Given the description of an element on the screen output the (x, y) to click on. 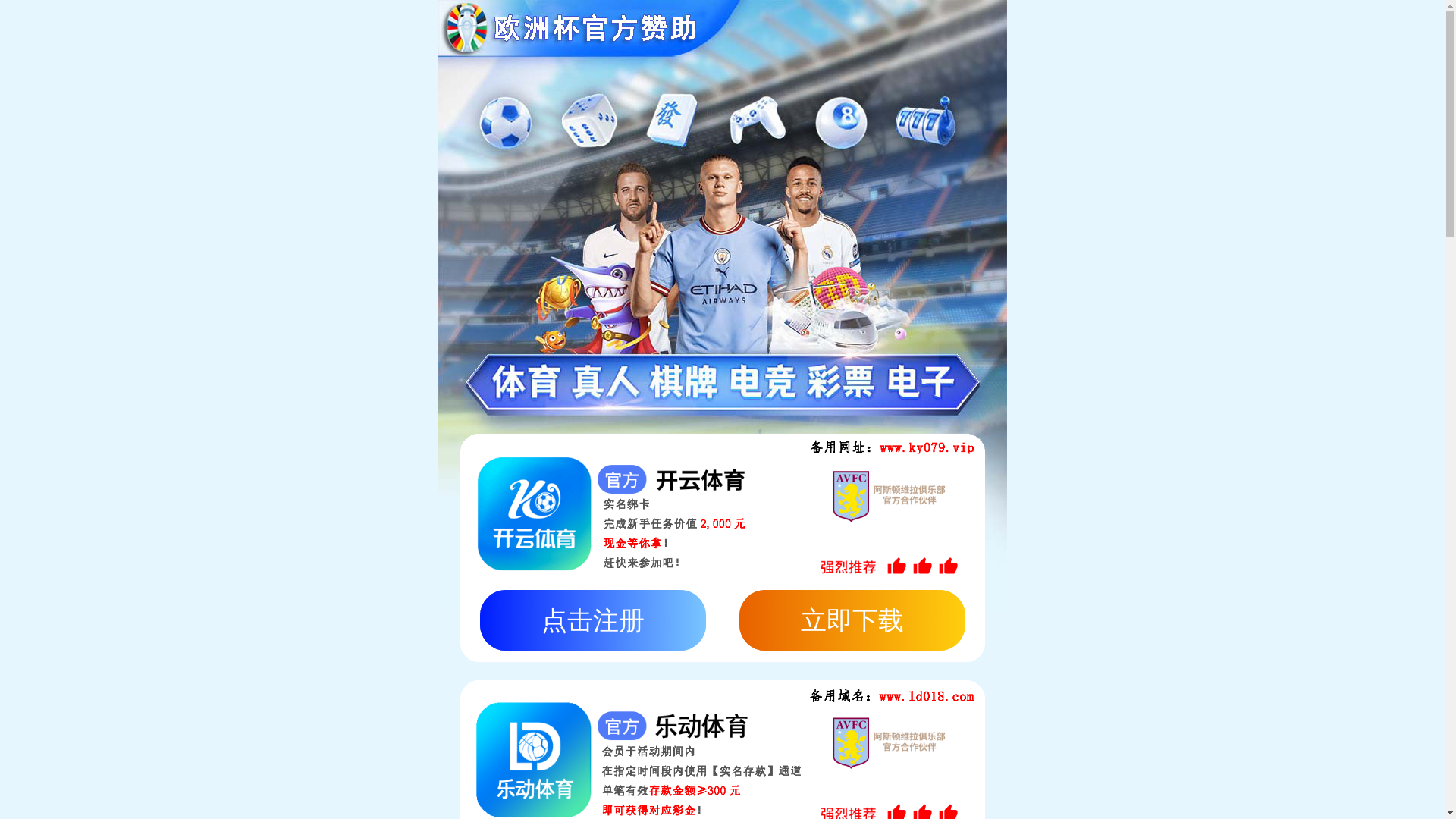
Thickener Technology (897, 341)
Mechanical mixing equipment technology (702, 340)
Electrolytic aluminum equipment (1071, 341)
CN (1400, 30)
TOP (1201, 340)
Marketing (916, 30)
Robot transmission technology (487, 341)
Institute (779, 30)
Solar energy transmission technology (280, 341)
Solution (643, 30)
